Given the description of an element on the screen output the (x, y) to click on. 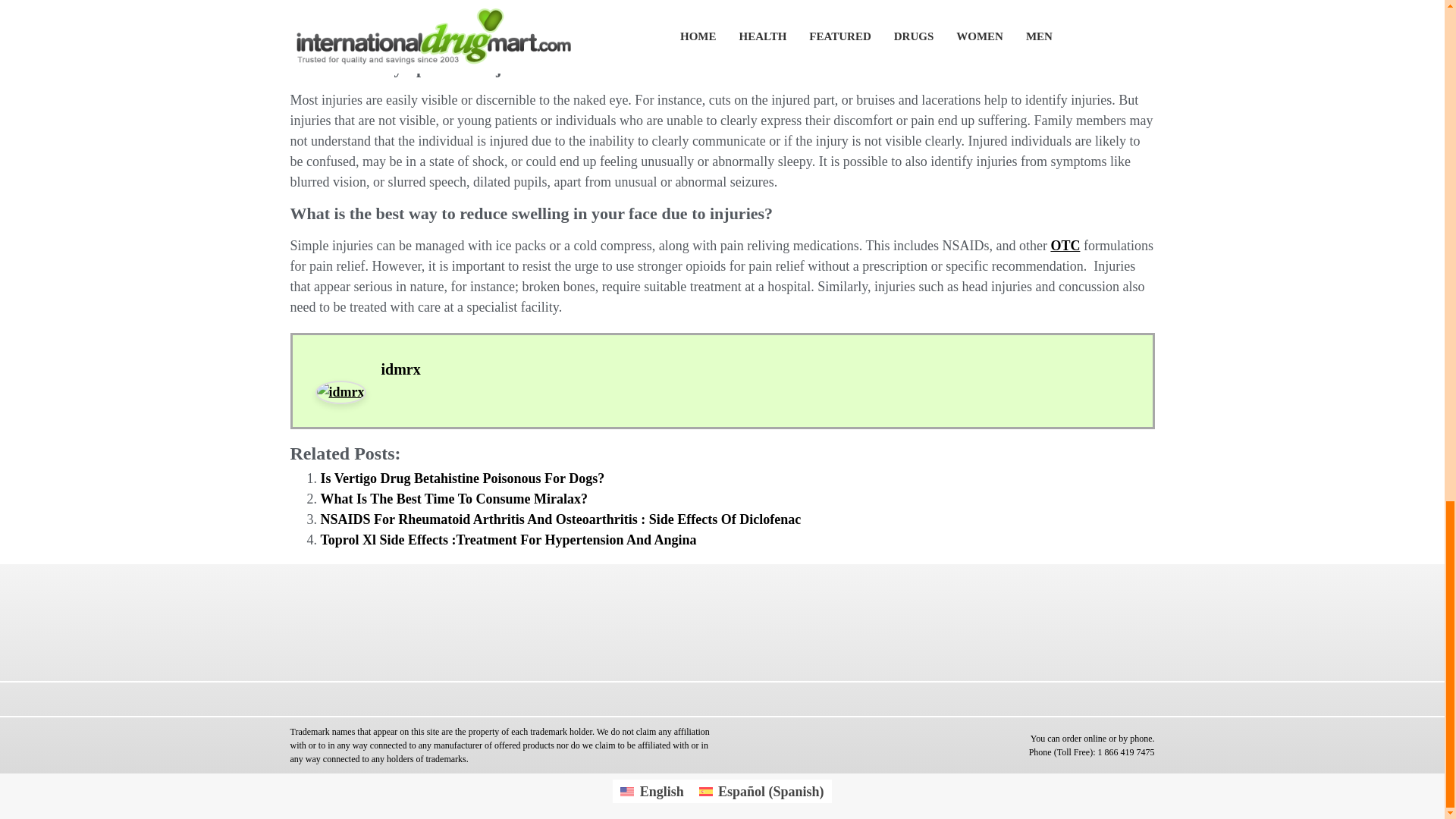
What Is The Best Time To Consume Miralax? (454, 498)
Is Vertigo Drug Betahistine Poisonous For Dogs? (462, 478)
What Is The Best Time To Consume Miralax? (454, 498)
idmrx (400, 369)
OTC (1064, 245)
Is Vertigo Drug Betahistine Poisonous For Dogs? (462, 478)
